Given the description of an element on the screen output the (x, y) to click on. 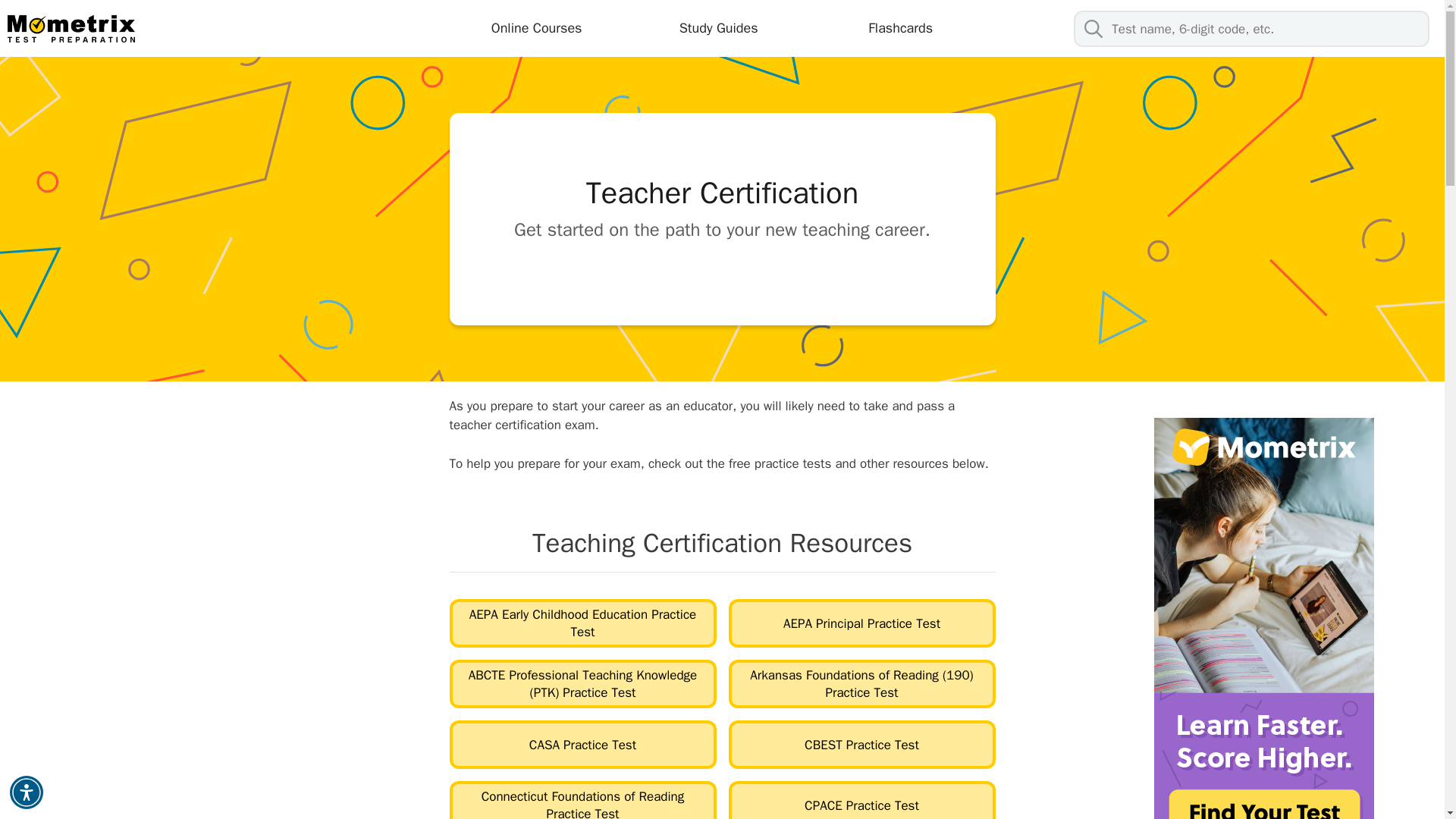
CBEST Practice Test (861, 744)
CPACE Practice Test (861, 800)
AEPA Early Childhood Education Practice Test (582, 622)
Accessibility Menu (26, 792)
Online Courses (536, 28)
AEPA Principal Practice Test (861, 622)
Connecticut Foundations of Reading Practice Test (582, 800)
Study Guides (718, 28)
Flashcards (900, 28)
Mometrix Academy Logo (71, 31)
